Given the description of an element on the screen output the (x, y) to click on. 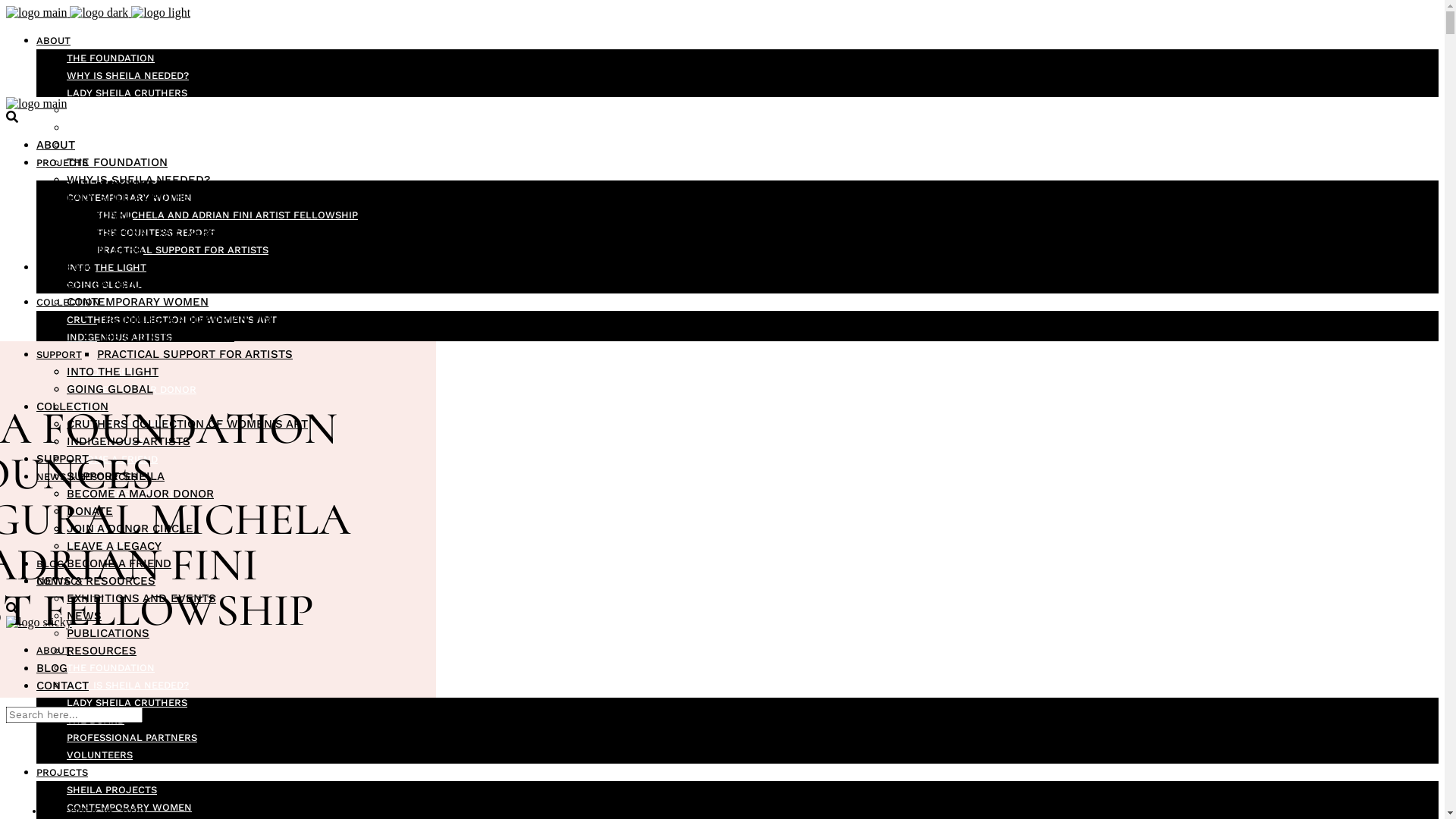
LADY SHEILA CRUTHERS Element type: text (126, 92)
BECOME A FRIEND Element type: text (111, 458)
EXHIBITIONS AND EVENTS Element type: text (141, 598)
PUBLICATIONS Element type: text (107, 633)
THE FOUNDATION Element type: text (110, 667)
CONTEMPORARY WOMEN Element type: text (128, 197)
INTO THE LIGHT Element type: text (106, 267)
EXHIBITIONS AND EVENTS Element type: text (130, 493)
INDIGENOUS ARTISTS Element type: text (128, 441)
JOIN A DONOR CIRCLE Element type: text (122, 423)
PROFESSIONAL PARTNERS Element type: text (131, 127)
PROJECTS Element type: text (61, 162)
PUBLICATIONS Element type: text (102, 528)
SHEILA PROJECTS Element type: text (111, 789)
LEAVE A LEGACY Element type: text (113, 545)
OCTOBER 14, 2020 Element type: text (94, 810)
PRACTICAL SUPPORT FOR ARTISTS Element type: text (194, 353)
RESOURCES Element type: text (95, 546)
PRACTICAL SUPPORT FOR ARTISTS Element type: text (182, 249)
INDIGENOUS ARTISTS Element type: text (119, 336)
THE COUNTESS REPORT Element type: text (156, 232)
NEWS & RESOURCES Element type: text (95, 580)
DONATE Element type: text (89, 510)
THE MICHELA AND ADRIAN FINI ARTIST FELLOWSHIP Element type: text (227, 214)
GOING GLOBAL Element type: text (109, 388)
LADY SHEILA CRUTHERS Element type: text (135, 196)
BECOME A MAJOR DONOR Element type: text (131, 389)
INTO THE LIGHT Element type: text (112, 371)
NEWS Element type: text (83, 615)
NEWS Element type: text (81, 511)
WHY IS SHEILA NEEDED? Element type: text (127, 684)
LADY SHEILA CRUTHERS Element type: text (126, 702)
ABOUT Element type: text (55, 144)
PROJECTS Element type: text (61, 772)
COLLECTION Element type: text (72, 406)
JOIN A DONOR CIRCLE Element type: text (129, 528)
THE FOUNDATION Element type: text (116, 162)
WHY IS SHEILA NEEDED? Element type: text (127, 75)
THE BOARD Element type: text (99, 214)
VOLUNTEERS Element type: text (104, 249)
COLLECTION Element type: text (68, 301)
RESOURCES Element type: text (101, 650)
BLOG Element type: text (49, 563)
CONTEMPORARY WOMEN Element type: text (137, 301)
ABOUT Element type: text (53, 649)
THE BOARD Element type: text (95, 719)
PROFESSIONAL PARTNERS Element type: text (141, 231)
CONTACT Element type: text (59, 580)
THE BOARD Element type: text (95, 110)
WHY IS SHEILA NEEDED? Element type: text (138, 179)
DONATE Element type: text (86, 406)
LEAVE A LEGACY Element type: text (107, 441)
VOLUNTEERS Element type: text (99, 144)
VOLUNTEERS Element type: text (99, 754)
GOING GLOBAL Element type: text (103, 284)
BLOG Element type: text (51, 667)
SHEILA PROJECTS Element type: text (118, 284)
THE COUNTESS REPORT Element type: text (165, 336)
BECOME A FRIEND Element type: text (118, 563)
SHEILA PROJECTS Element type: text (111, 179)
CONTACT Element type: text (62, 685)
ABOUT Element type: text (53, 40)
THE MICHELA AND ADRIAN FINI ARTIST FELLOWSHIP Element type: text (246, 319)
THE FOUNDATION Element type: text (110, 57)
PROJECTS Element type: text (65, 266)
NEWS & RESOURCES Element type: text (86, 476)
SUPPORT Element type: text (58, 354)
SUPPORT SHEILA Element type: text (108, 371)
BECOME A MAJOR DONOR Element type: text (139, 493)
PROFESSIONAL PARTNERS Element type: text (131, 737)
SUPPORT Element type: text (62, 458)
SUPPORT SHEILA Element type: text (115, 476)
CONTEMPORARY WOMEN Element type: text (128, 806)
